Given the description of an element on the screen output the (x, y) to click on. 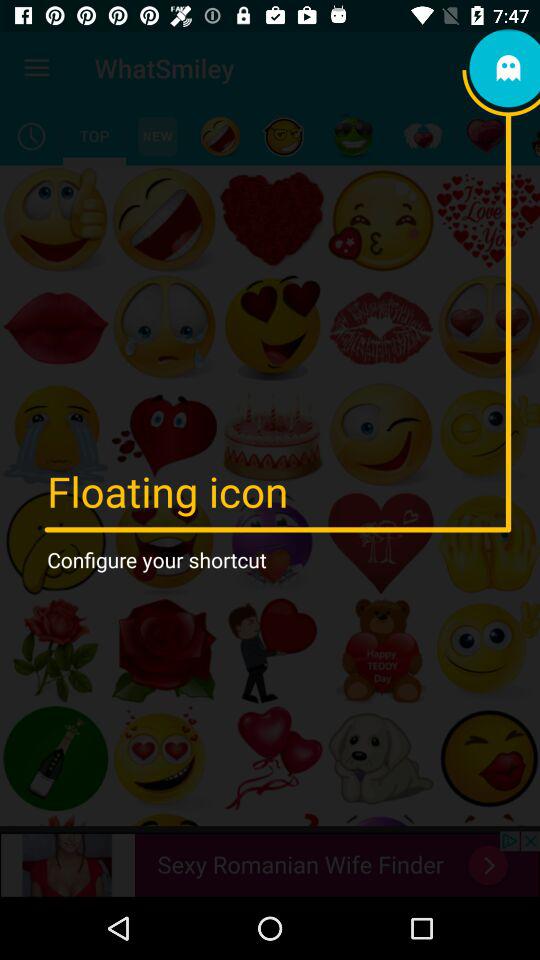
go to history (31, 136)
